Given the description of an element on the screen output the (x, y) to click on. 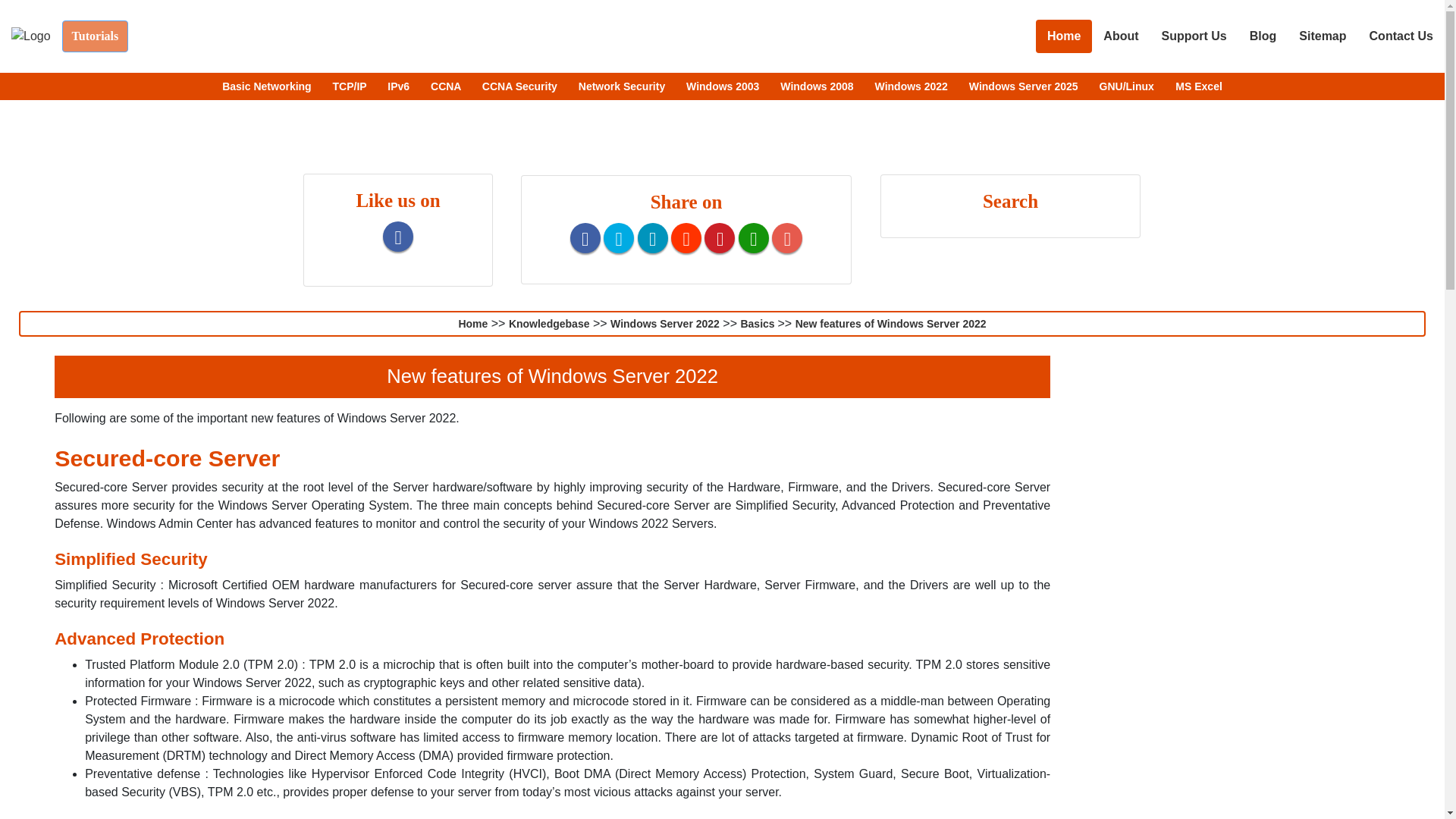
Support Us (1194, 36)
Sitemap (1321, 36)
Windows 2008 (818, 86)
Windows Server 2025 (1025, 86)
Blog (1263, 36)
Windows 2022 (912, 86)
CCNA Security (520, 86)
Tutorials (95, 35)
New features of Windows Server 2022 (890, 323)
Basics (758, 323)
